Given the description of an element on the screen output the (x, y) to click on. 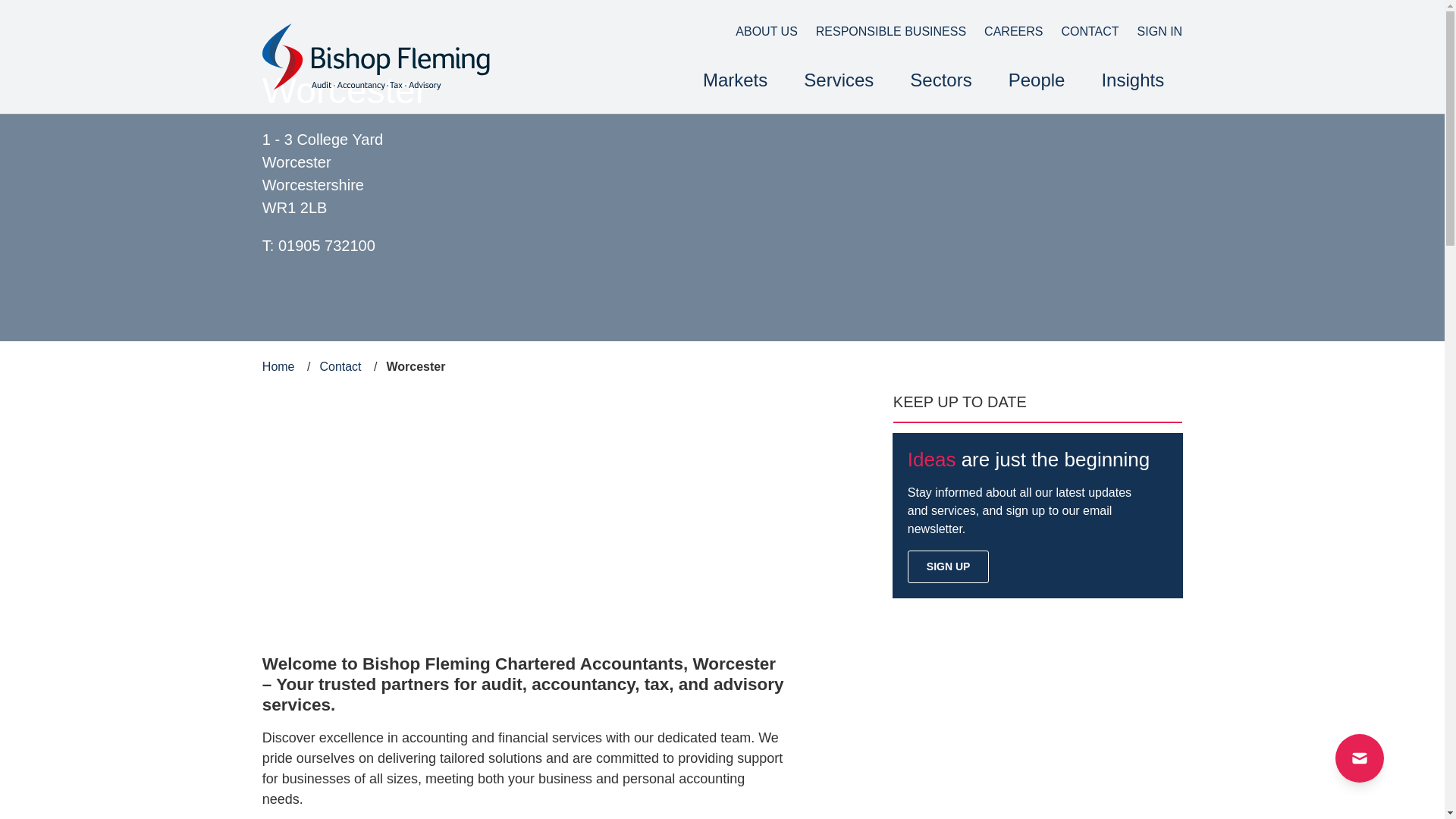
Services (838, 81)
CONTACT (1080, 31)
CAREERS (1004, 31)
Sectors (940, 81)
Insights (1132, 81)
People (1036, 81)
Markets (735, 81)
RESPONSIBLE BUSINESS (881, 31)
ABOUT US (757, 31)
SIGN IN (1150, 31)
